Given the description of an element on the screen output the (x, y) to click on. 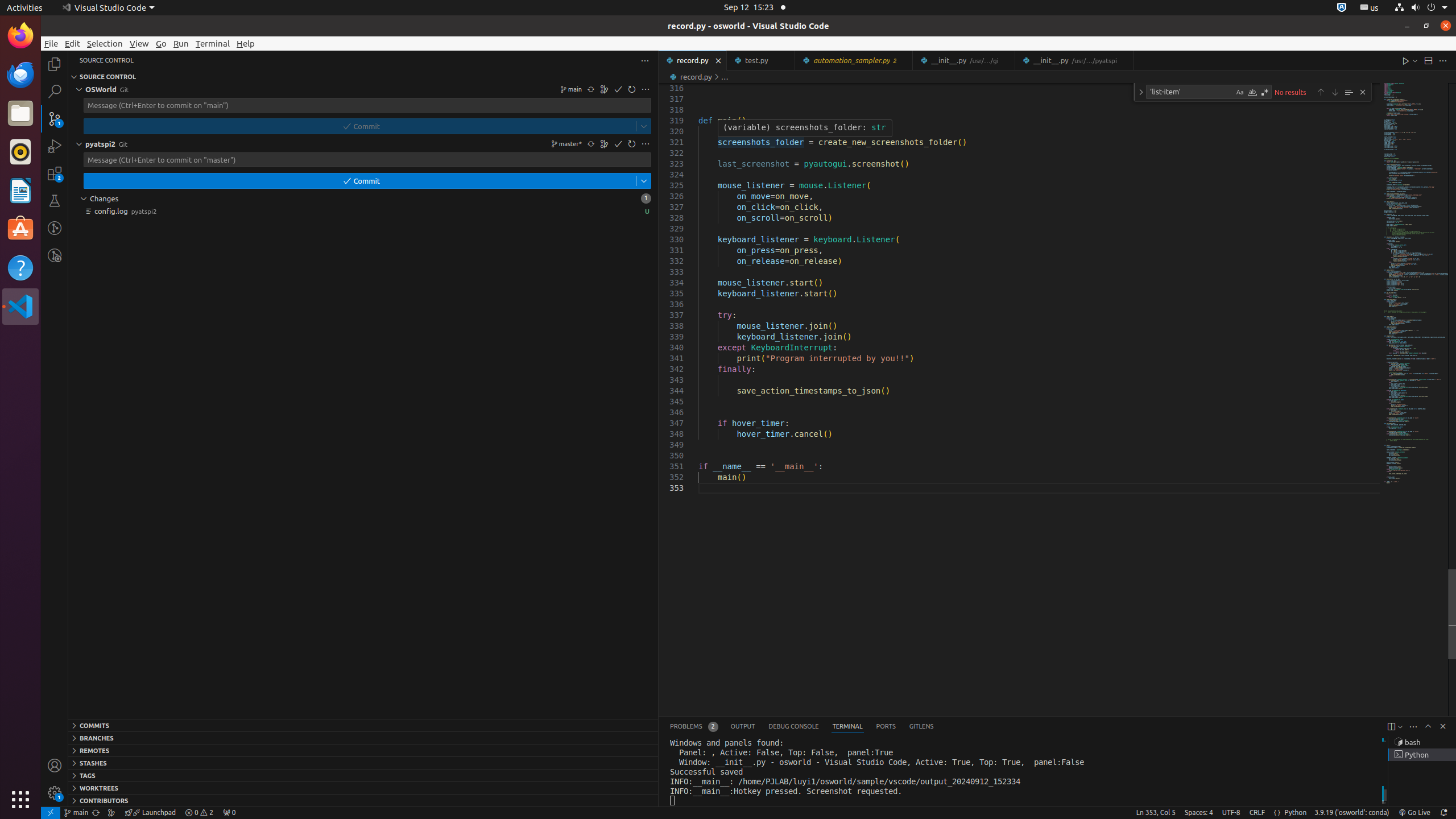
__init__.py Element type: page-tab (1073, 60)
Close (Ctrl+W) Element type: push-button (1124, 60)
 Commit Element type: push-button (359, 126)
Match Case (Alt+C) Element type: check-box (1239, 91)
Terminal (Ctrl+`) Element type: page-tab (847, 726)
